Given the description of an element on the screen output the (x, y) to click on. 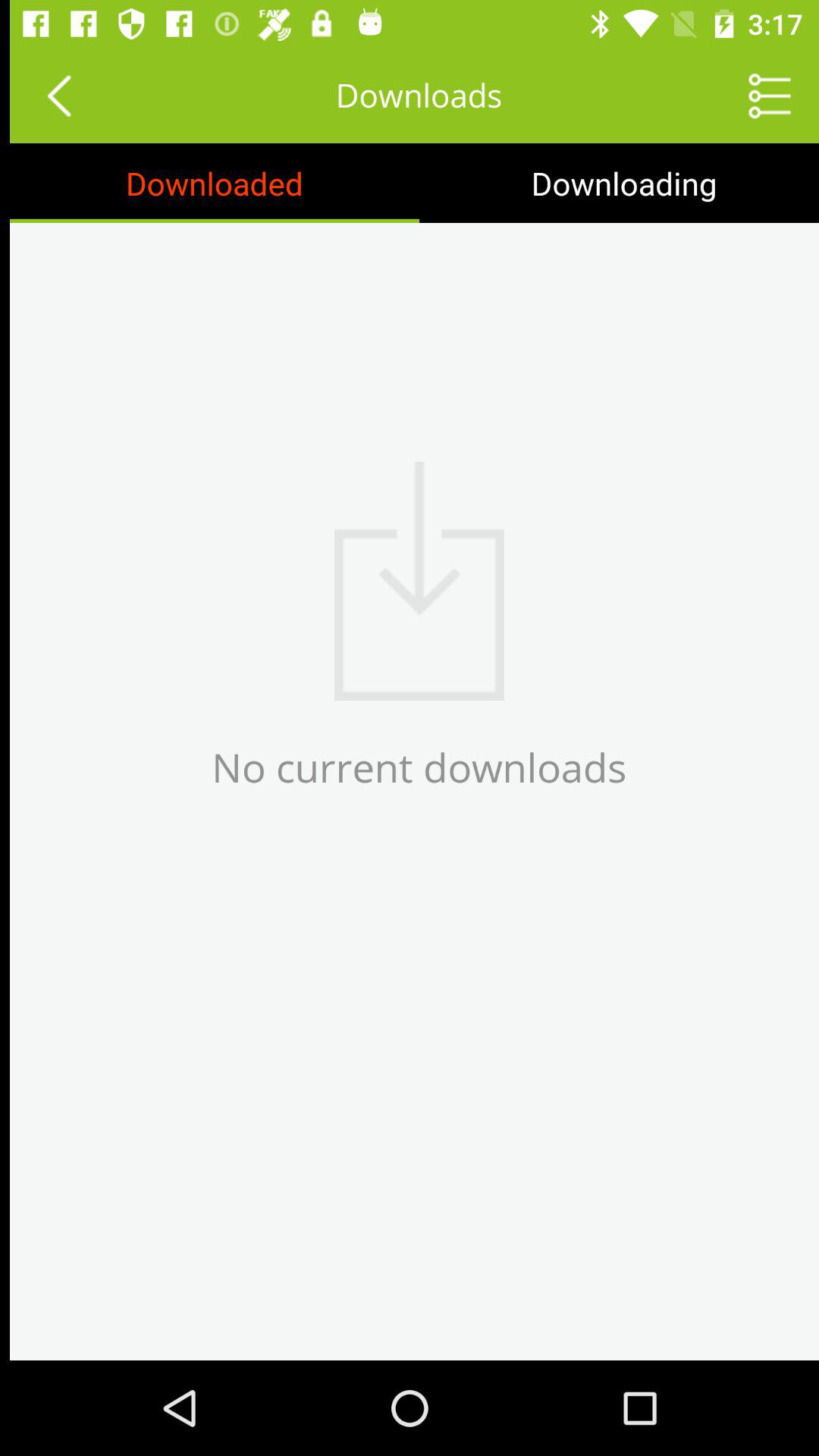
choose the icon above the downloading item (759, 95)
